Given the description of an element on the screen output the (x, y) to click on. 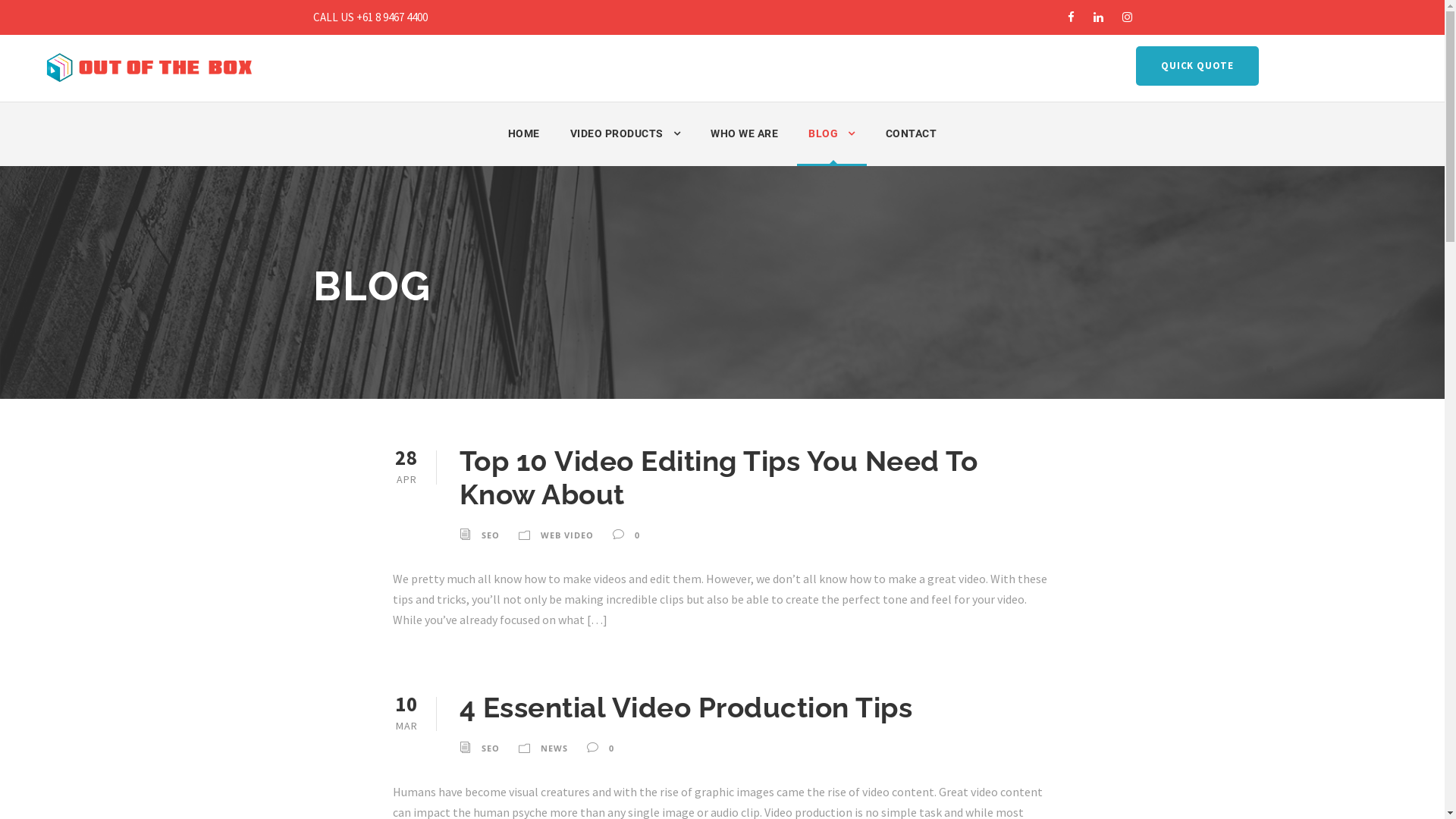
NOVEMBER 5, 2020 Element type: text (654, 673)
HOME Element type: text (523, 145)
+61 8 9467 4400 Element type: text (921, 560)
Do Video Editors Make Good Money? Element type: text (701, 506)
out of the box logo Element type: hover (440, 491)
VIDEO PRODUCTS Element type: text (625, 145)
linkedin Element type: hover (1098, 16)
SEO Element type: text (489, 534)
BLOG Element type: text (831, 145)
4 Essential Video Production Tips Element type: text (686, 707)
SEO Element type: text (489, 747)
WEB VIDEO Element type: text (566, 534)
facebook Element type: hover (1070, 16)
DECEMBER 22, 2020 Element type: text (655, 526)
NOVEMBER 27, 2020 Element type: text (657, 600)
QUICK QUOTE Element type: text (1196, 65)
CONTACT Element type: text (911, 145)
Why Your Business Needs To Invest In Video Marketing Today Element type: text (718, 570)
WHO WE ARE Element type: text (744, 145)
NEWS Element type: text (553, 747)
Top 10 Video Editing Tips You Need To Know About Element type: text (718, 477)
instagram Element type: hover (1127, 16)
